Given the description of an element on the screen output the (x, y) to click on. 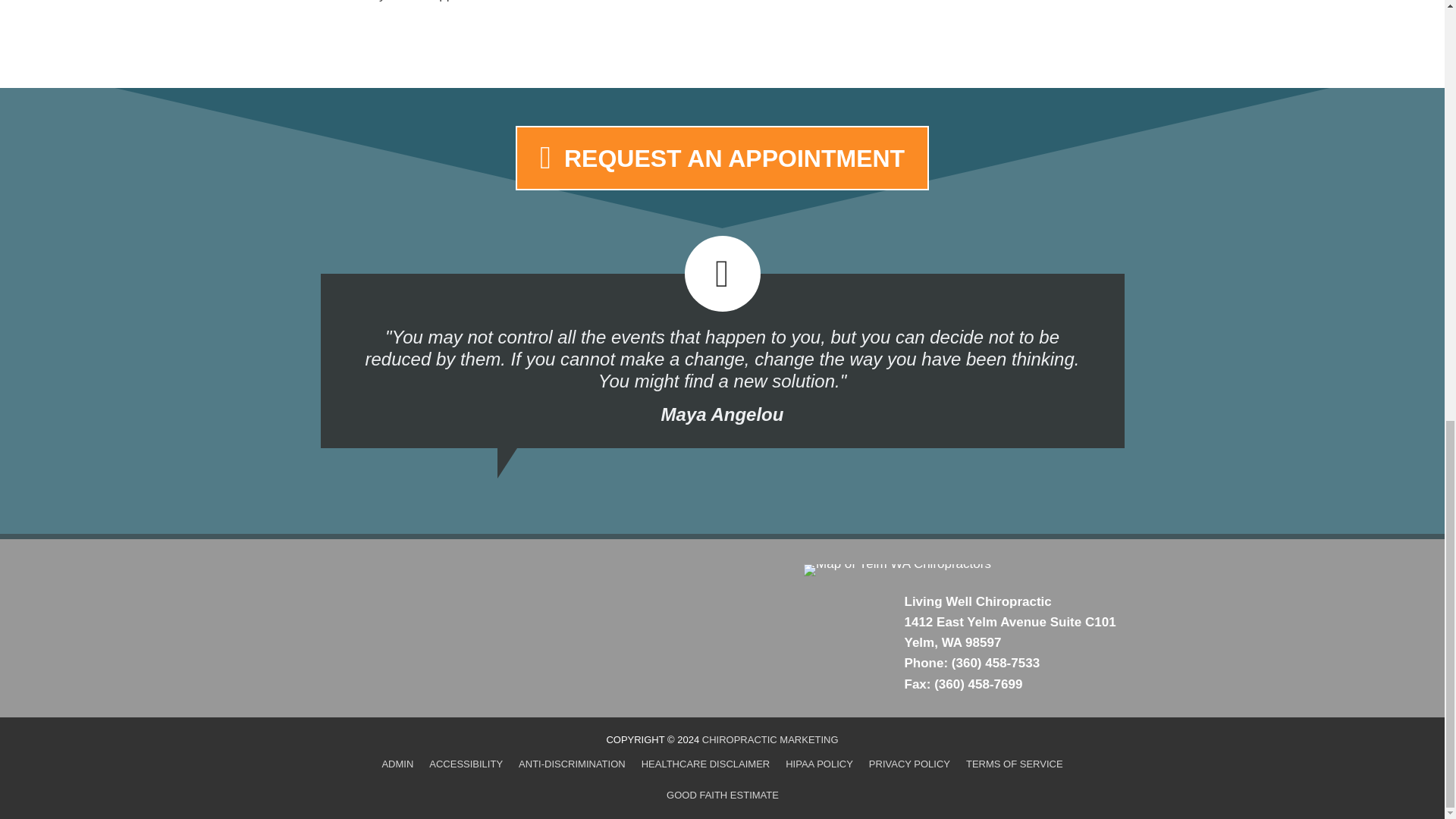
Map of Yelm WA Chiropractors (897, 570)
